Given the description of an element on the screen output the (x, y) to click on. 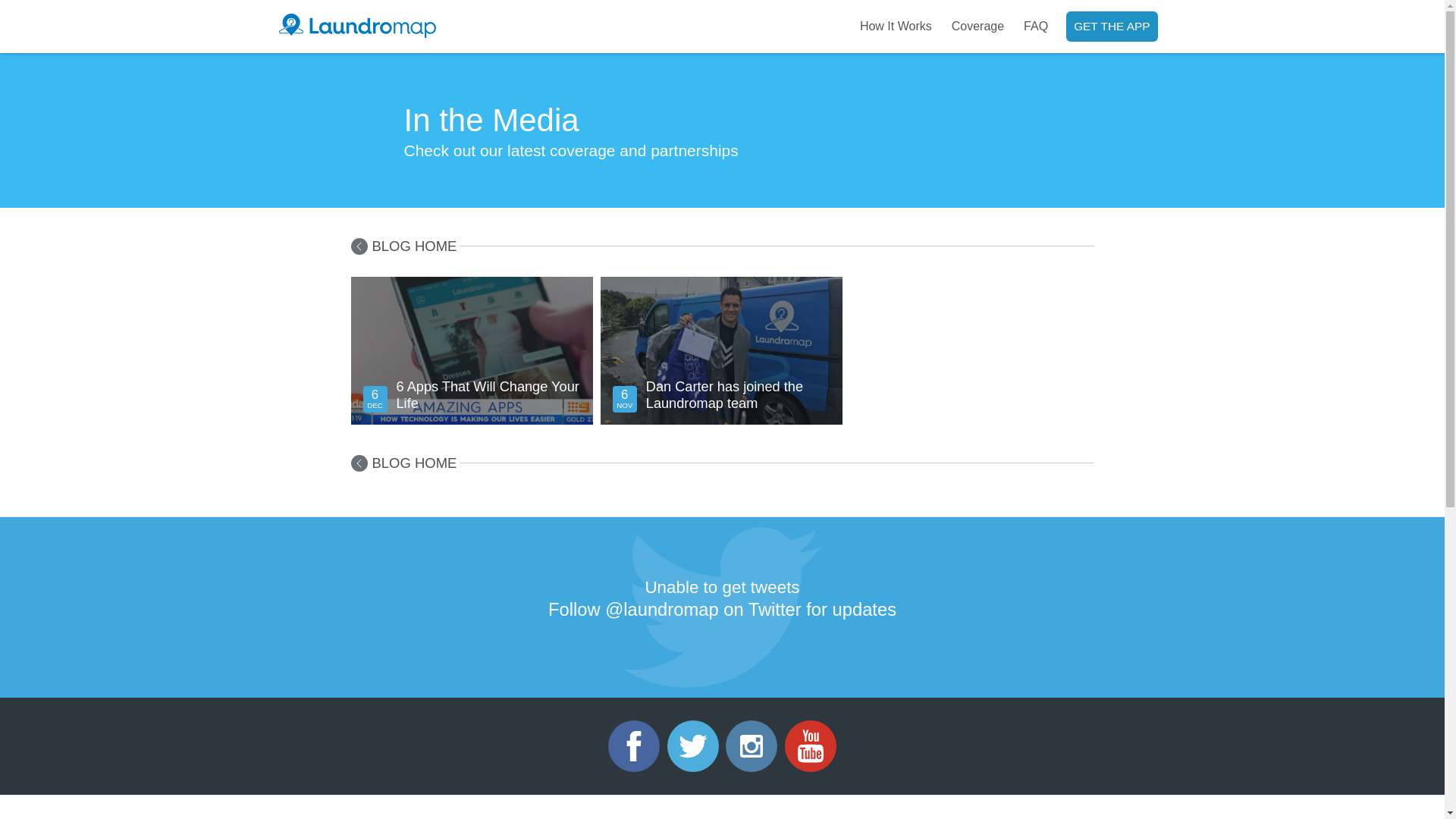
FAQ Element type: text (1035, 26)
6
DEC
6 Apps That Will Change Your Life Element type: text (471, 419)
@laundromap Element type: text (661, 609)
6
NOV
Dan Carter has joined the Laundromap team Element type: text (721, 419)
BLOG HOME Element type: text (403, 246)
GET THE APP Element type: text (1111, 26)
BLOG HOME Element type: text (403, 463)
Coverage Element type: text (977, 26)
How It Works Element type: text (895, 26)
